Given the description of an element on the screen output the (x, y) to click on. 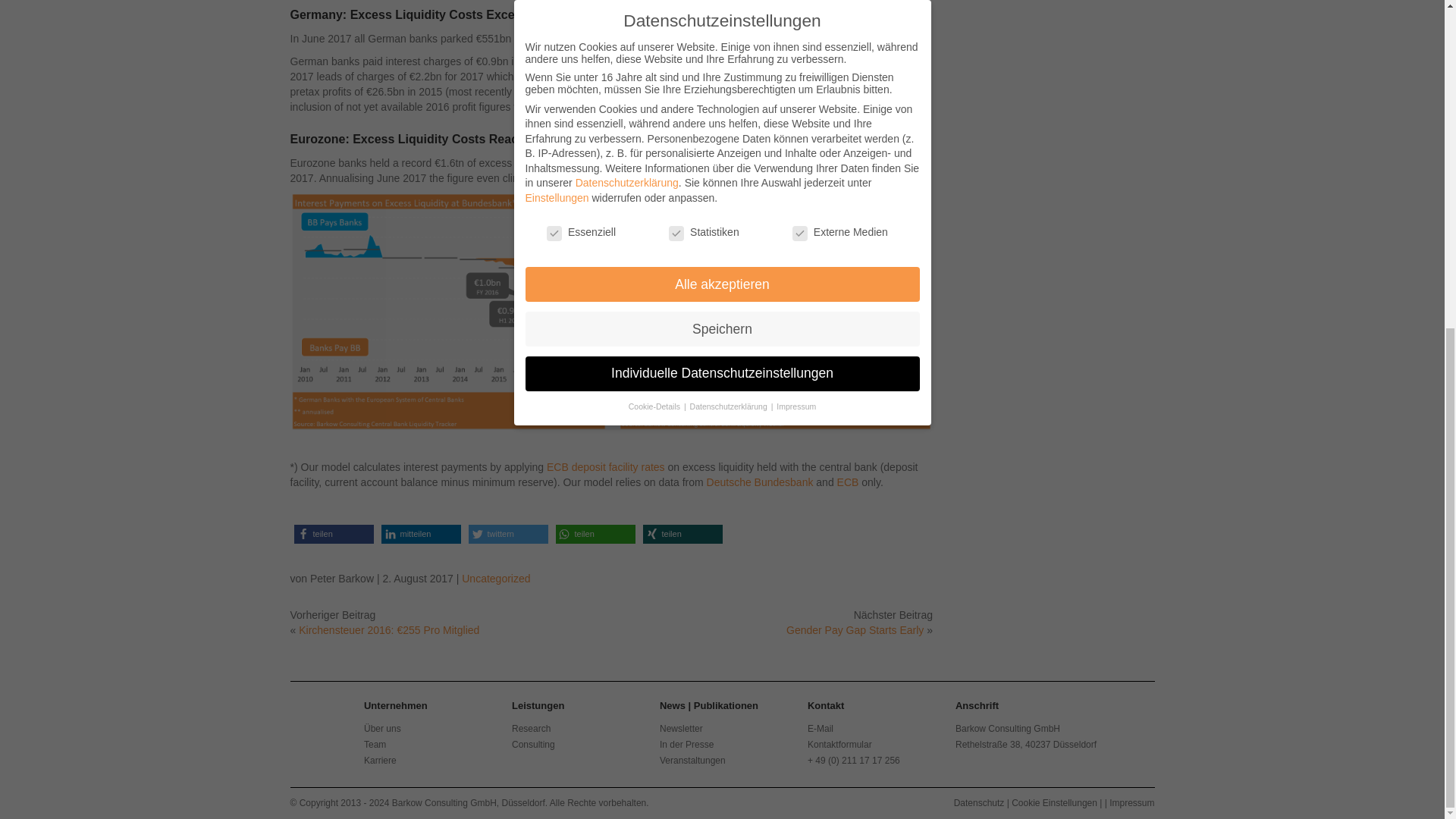
Research (531, 728)
Bei XING teilen (682, 533)
Karriere (380, 760)
Bei Whatsapp teilen (594, 533)
Bei Twitter teilen (508, 533)
Bei LinkedIn teilen (420, 533)
Team (374, 744)
Consulting (533, 744)
Bei Facebook teilen (334, 533)
